Given the description of an element on the screen output the (x, y) to click on. 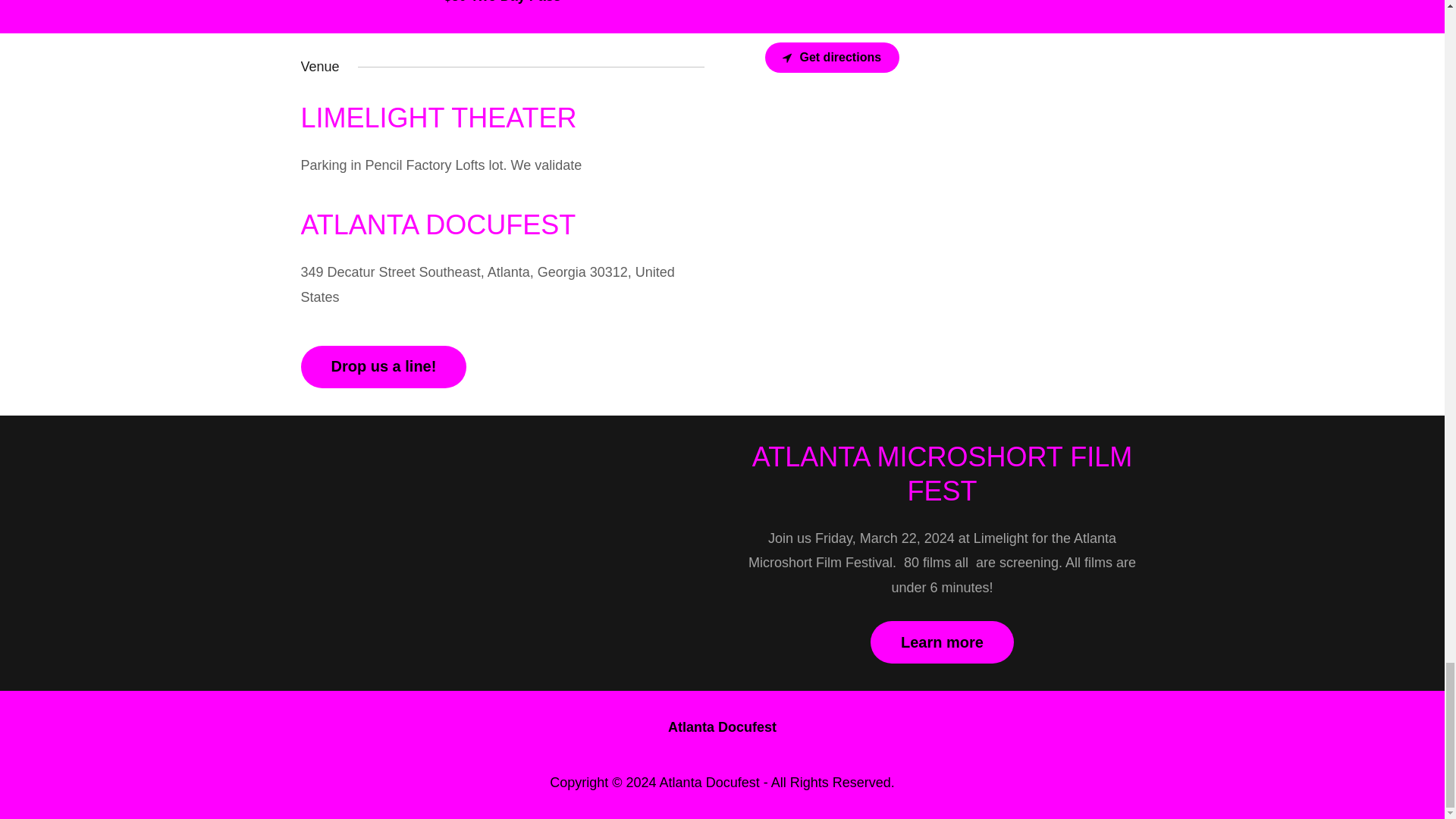
Drop us a line! (382, 366)
Get directions (831, 57)
Learn more (941, 641)
